Given the description of an element on the screen output the (x, y) to click on. 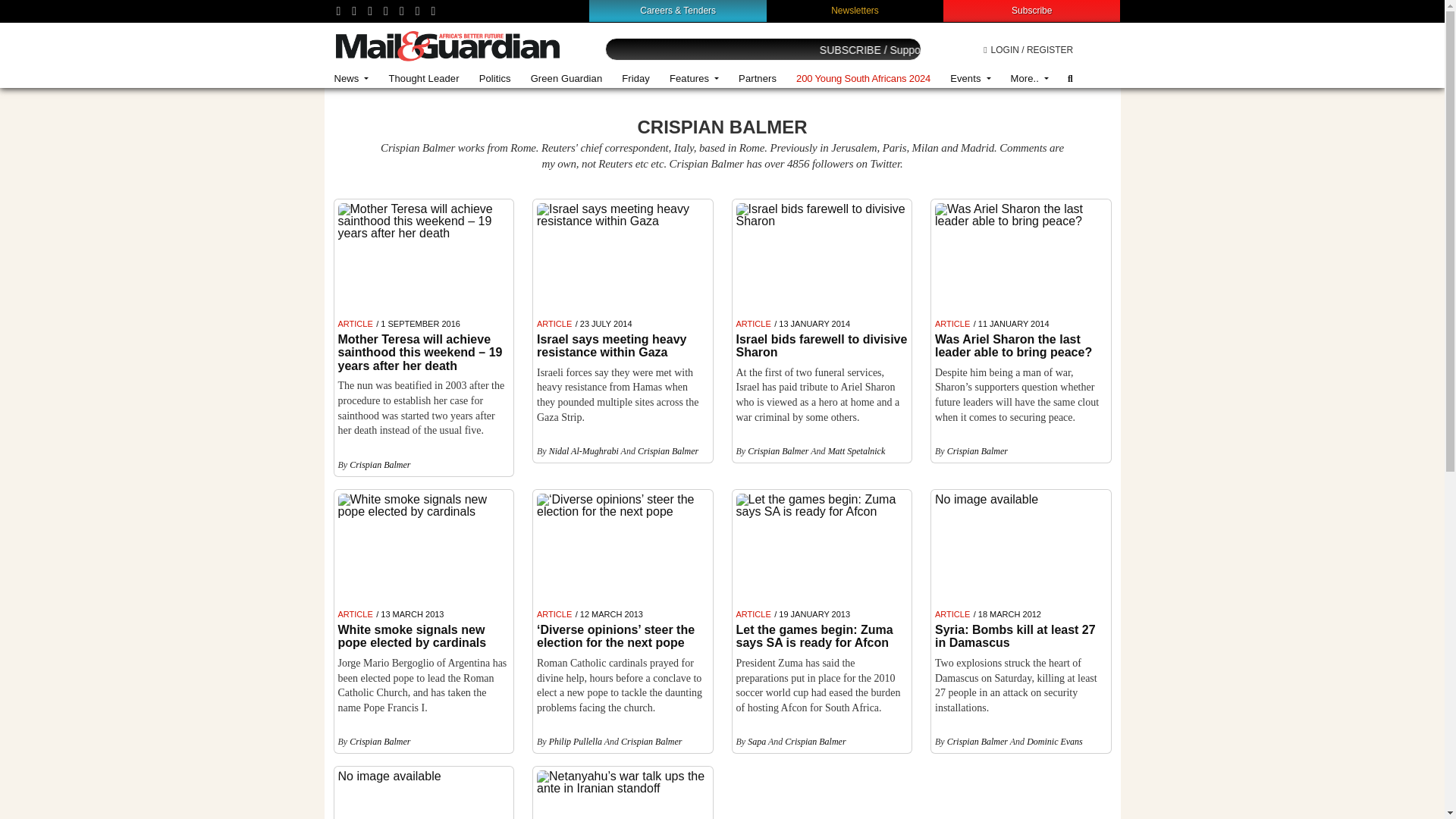
Newsletters (855, 9)
News (351, 78)
Politics (494, 78)
Subscribe (1031, 9)
Green Guardian (566, 78)
Friday (635, 78)
News (351, 78)
Thought Leader (423, 78)
